Given the description of an element on the screen output the (x, y) to click on. 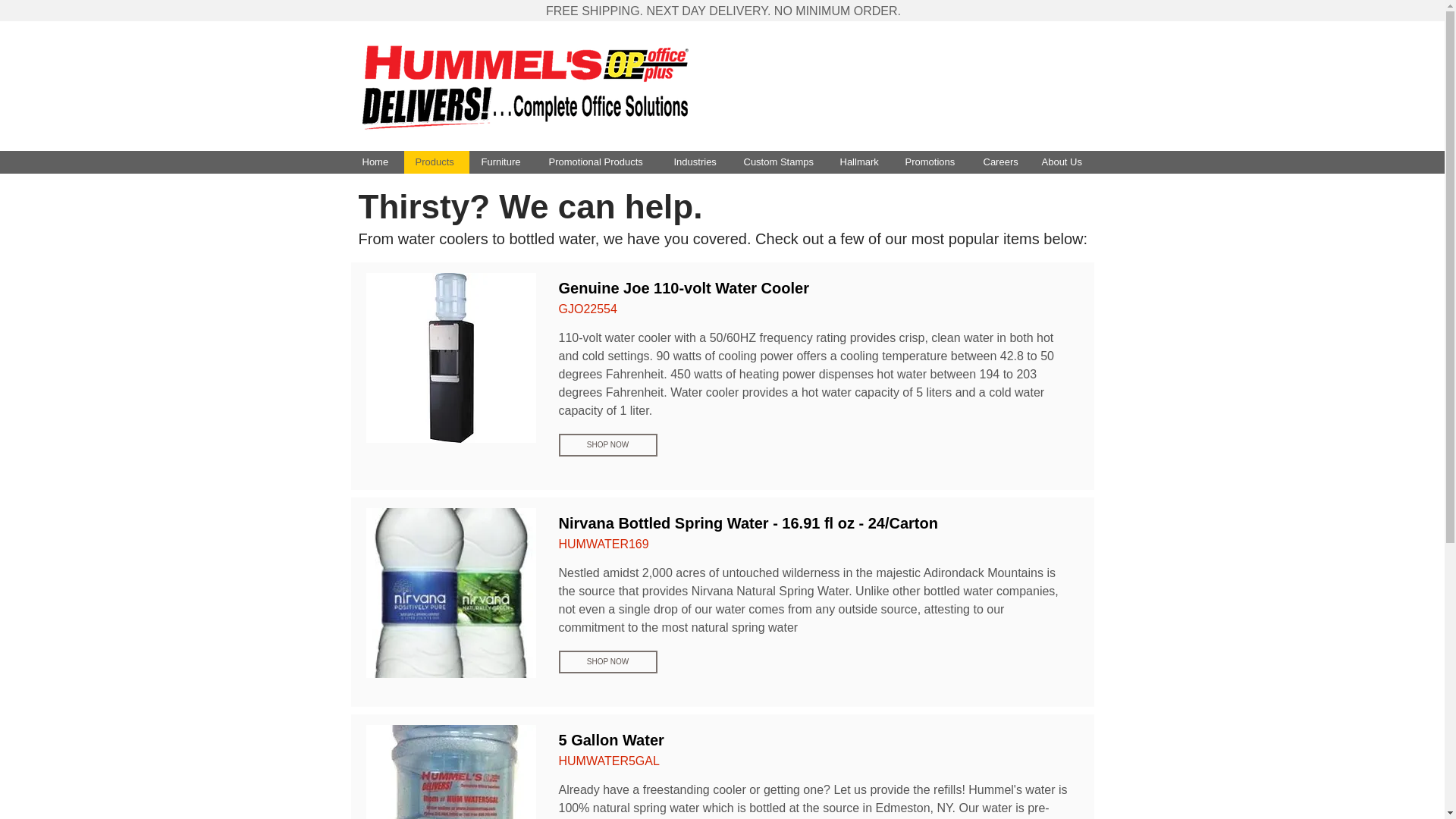
Furniture (501, 161)
Products (435, 161)
5 Gallon Water (450, 771)
Home (376, 161)
Hummel's Office Plus (525, 85)
Genuine Joe 110-volt Water Cooler (450, 357)
